Given the description of an element on the screen output the (x, y) to click on. 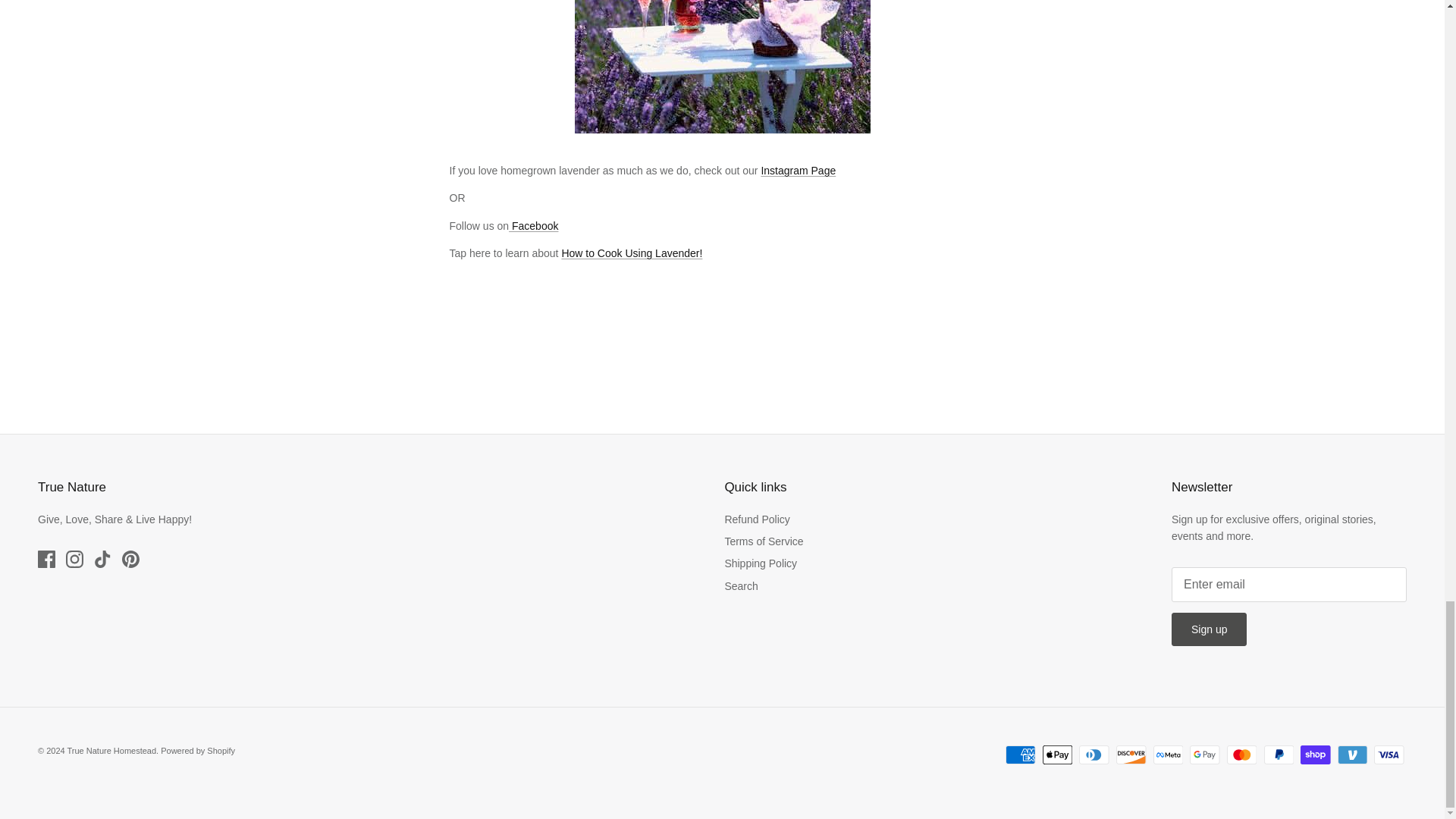
Discover (1130, 754)
American Express (1020, 754)
Mastercard (1241, 754)
Apple Pay (1057, 754)
Diners Club (1093, 754)
Google Pay (1204, 754)
Shop Pay (1315, 754)
PayPal (1277, 754)
Venmo (1352, 754)
Pinterest (130, 559)
